Given the description of an element on the screen output the (x, y) to click on. 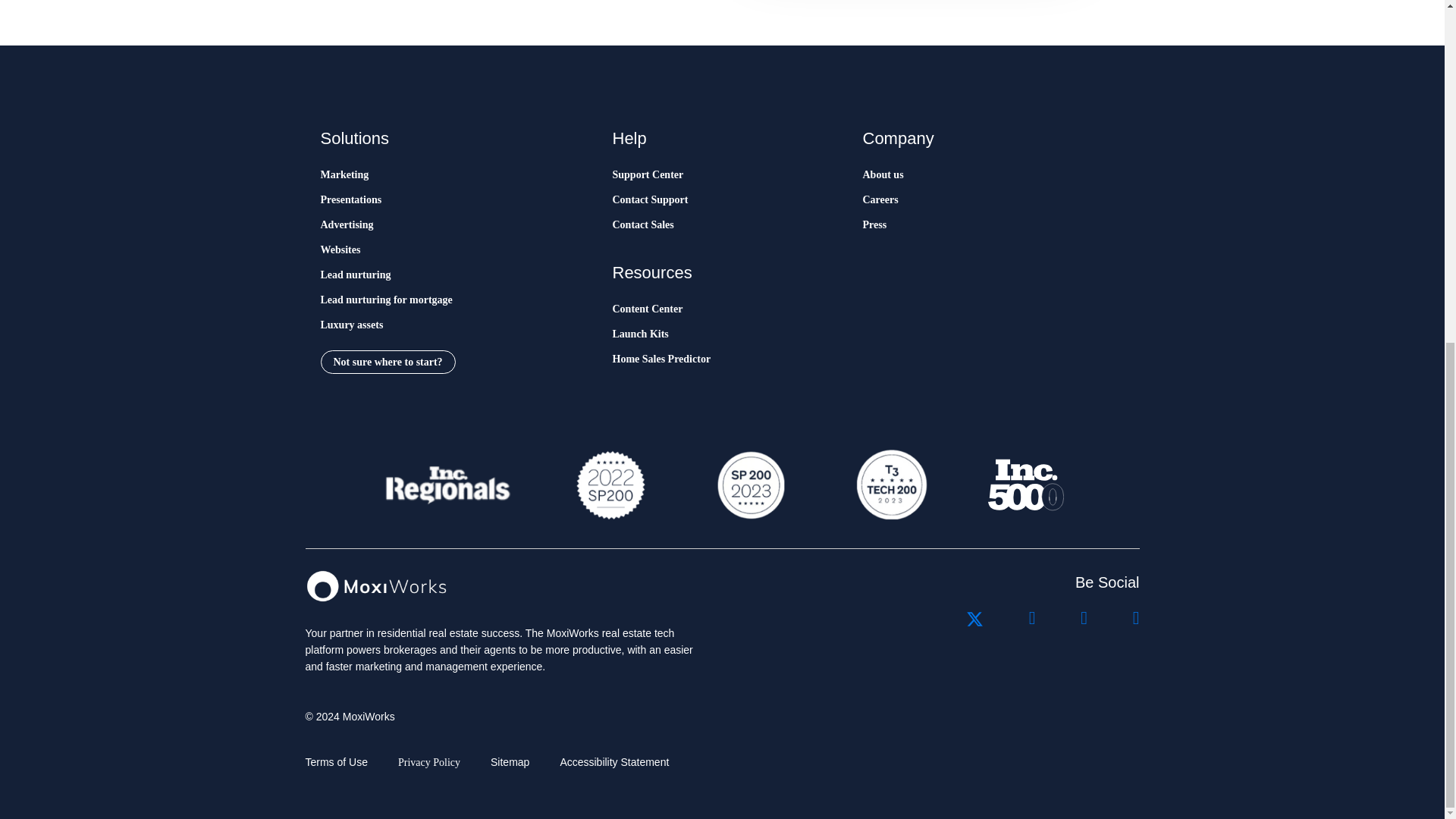
SP 2022 (610, 484)
T3 tech 200 2023 (890, 484)
SP 2023 (749, 484)
